Given the description of an element on the screen output the (x, y) to click on. 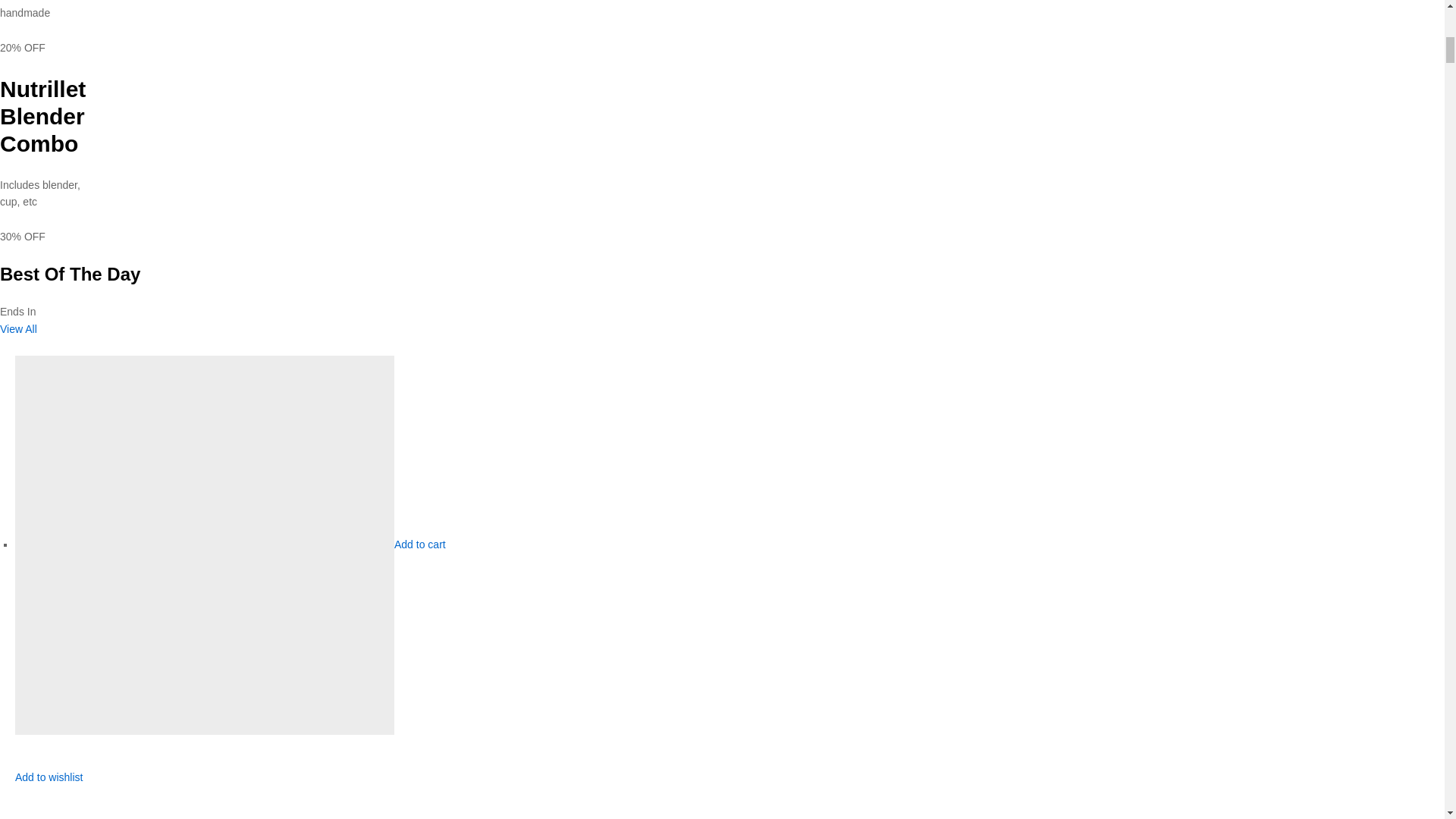
Add to wishlist (48, 785)
View All (18, 328)
Add to cart (419, 544)
Add to wishlist (48, 785)
